Given the description of an element on the screen output the (x, y) to click on. 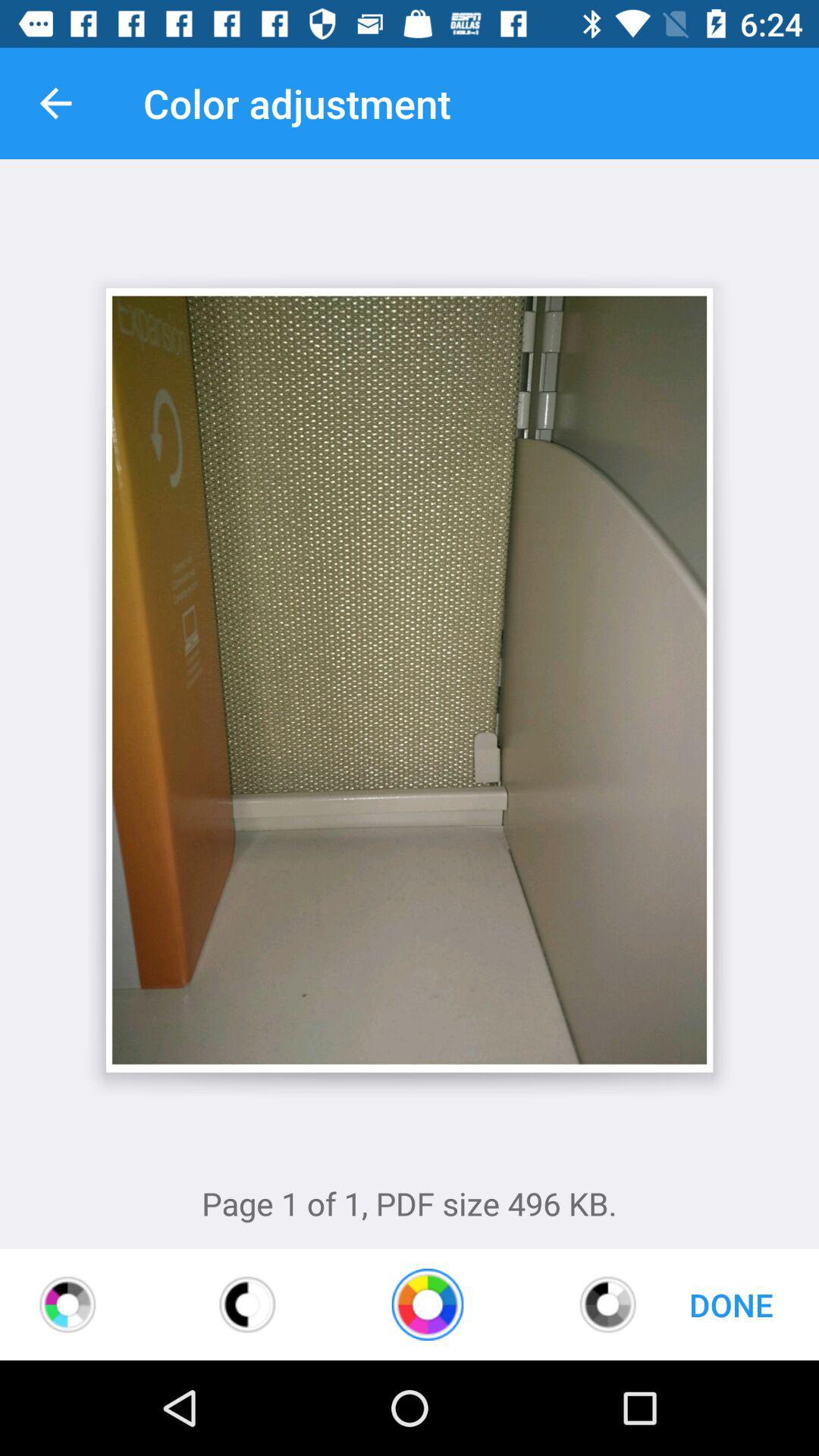
select the done (731, 1304)
